Given the description of an element on the screen output the (x, y) to click on. 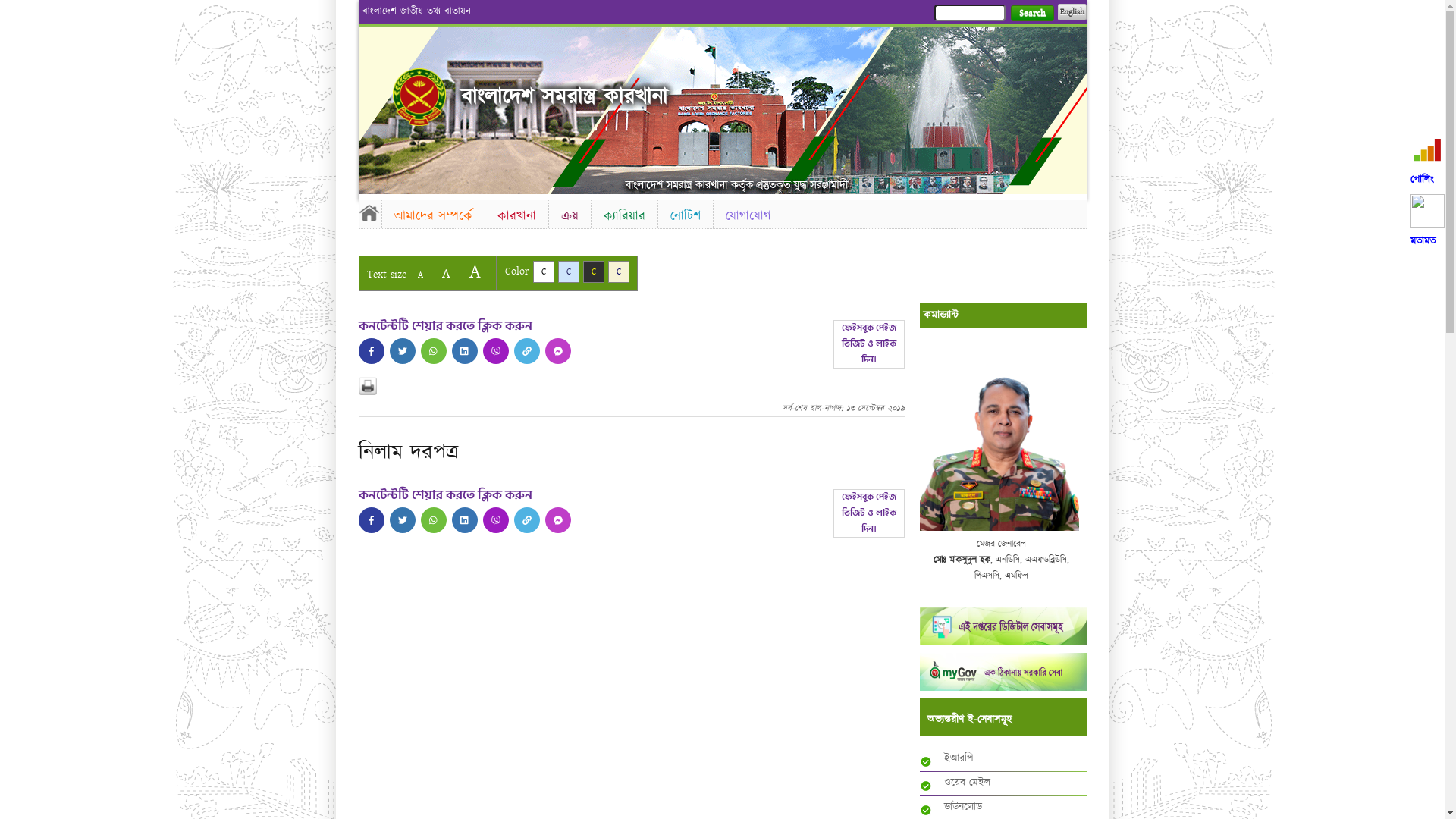
A Element type: text (445, 273)
C Element type: text (568, 271)
Home Element type: hover (418, 96)
C Element type: text (618, 271)
Home Element type: hover (368, 211)
C Element type: text (542, 271)
Search Element type: text (1031, 13)
English Element type: text (1071, 11)
A Element type: text (474, 271)
C Element type: text (592, 271)
A Element type: text (419, 274)
